Given the description of an element on the screen output the (x, y) to click on. 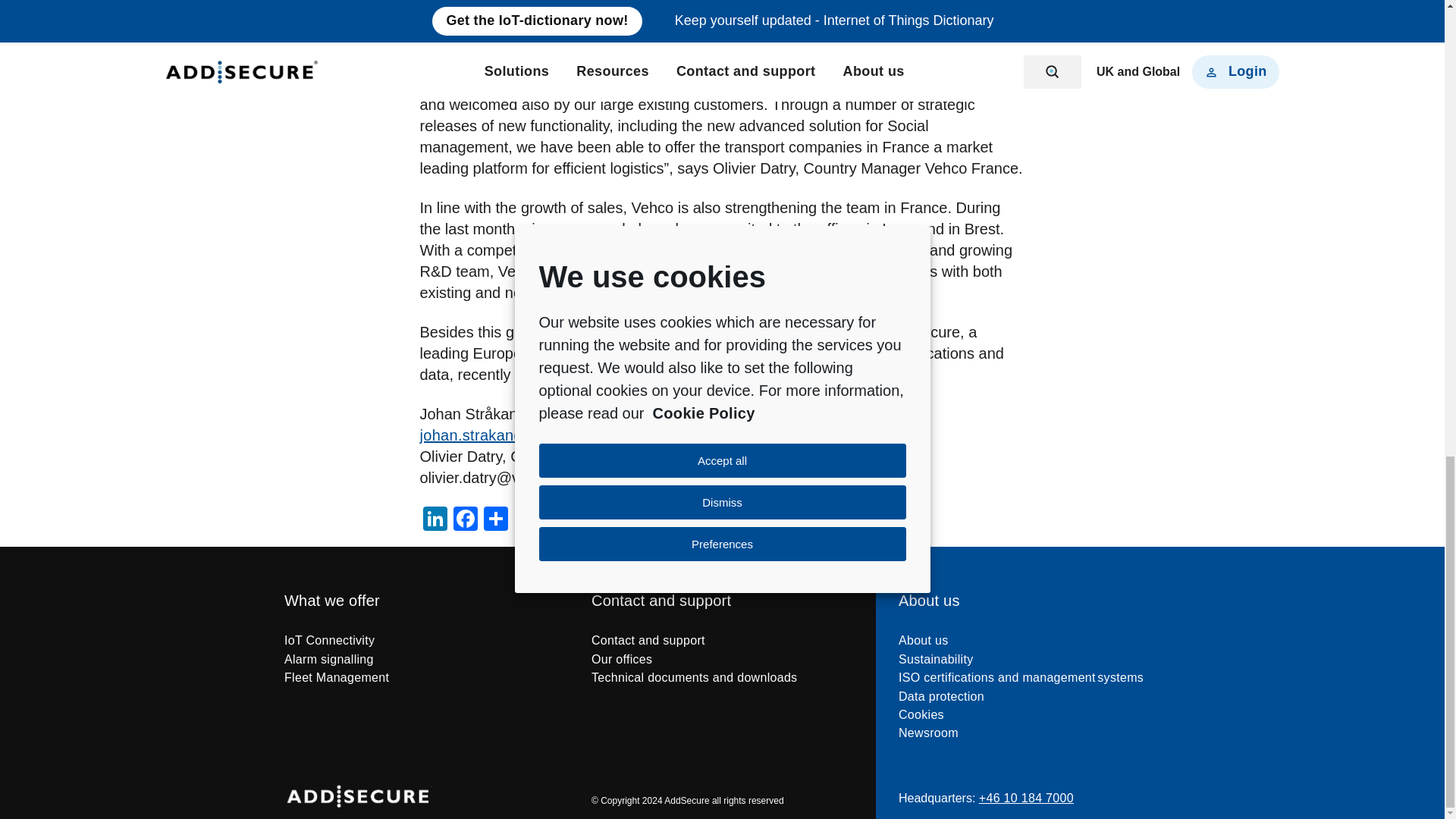
Facebook (464, 520)
LinkedIn (434, 520)
AddSecure (359, 779)
